Given the description of an element on the screen output the (x, y) to click on. 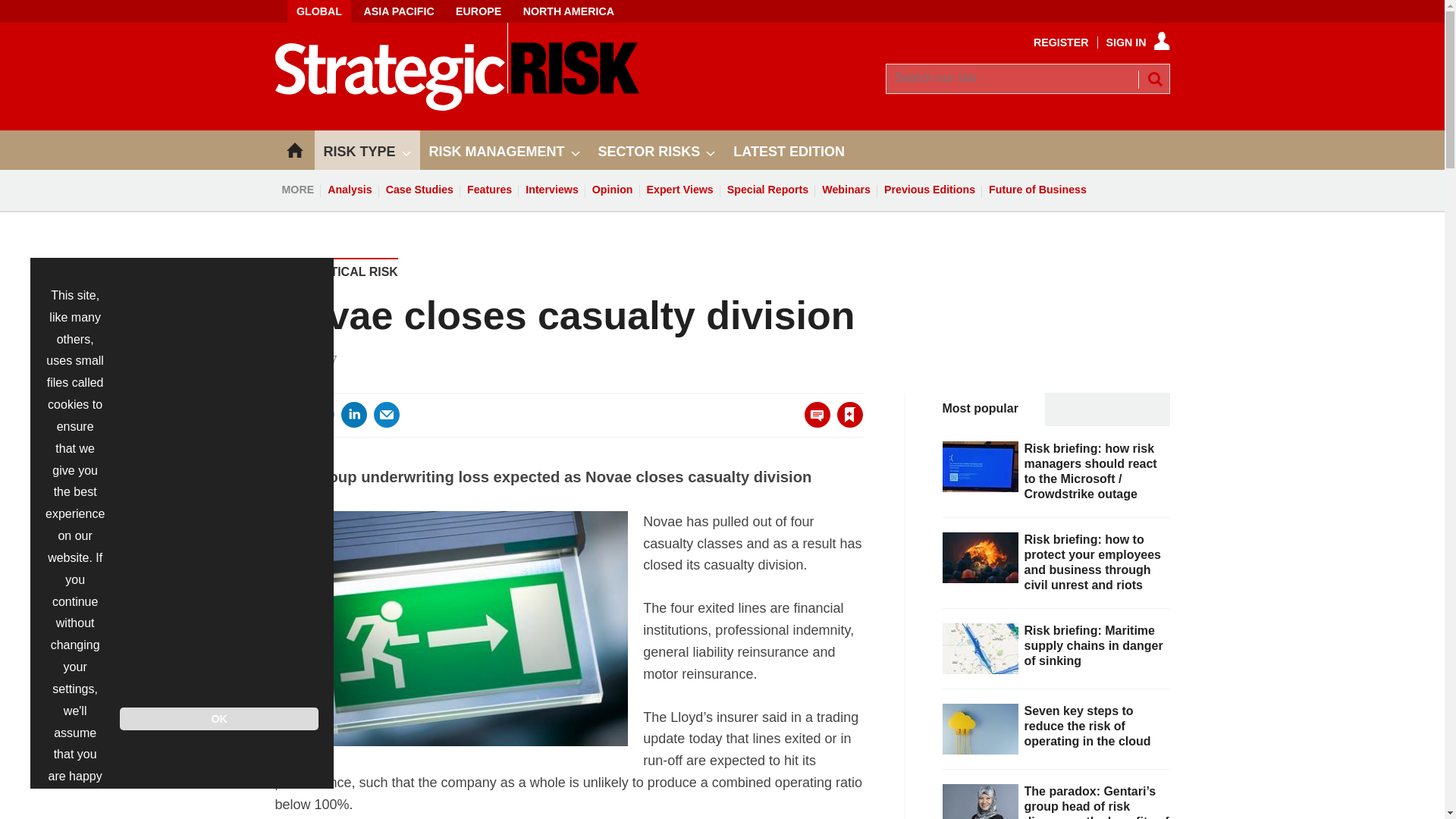
REGISTER (1061, 42)
Webinars (846, 189)
SIGN IN (1138, 42)
Special Reports (767, 189)
Case Studies (419, 189)
ASIA PACIFIC (397, 11)
No comments (812, 423)
Opinion (612, 189)
Expert Views (680, 189)
Future of Business (1037, 189)
